Given the description of an element on the screen output the (x, y) to click on. 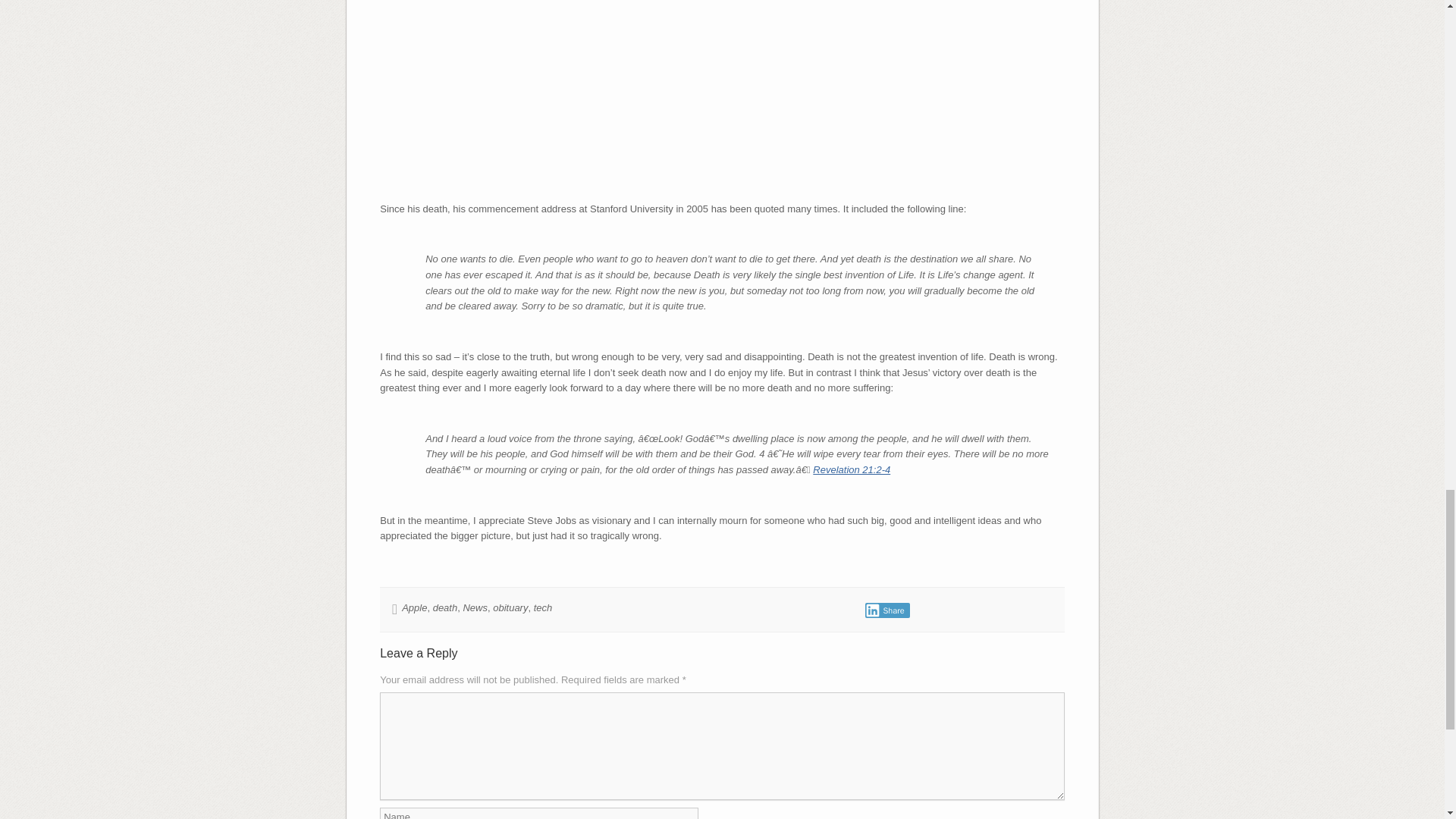
News (475, 607)
Apple (413, 607)
tech (543, 607)
death (445, 607)
Share (887, 610)
Revelation 21:2-4 (850, 469)
obituary (510, 607)
